Given the description of an element on the screen output the (x, y) to click on. 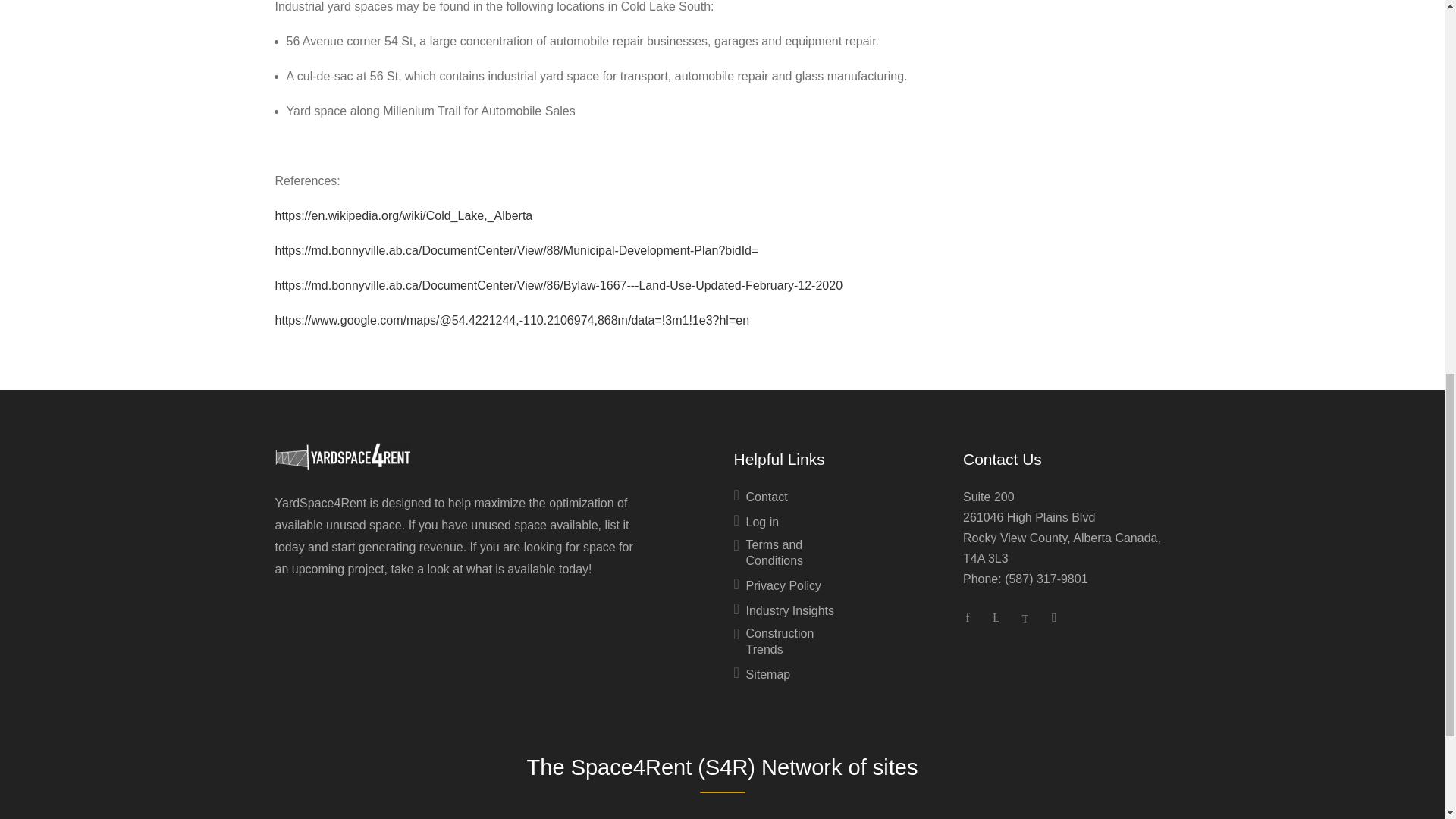
Privacy Policy (777, 589)
Construction Trends (784, 644)
Log in (755, 525)
Industry Insights (783, 613)
Contact (760, 499)
Sitemap (761, 677)
Terms and Conditions (784, 556)
